Given the description of an element on the screen output the (x, y) to click on. 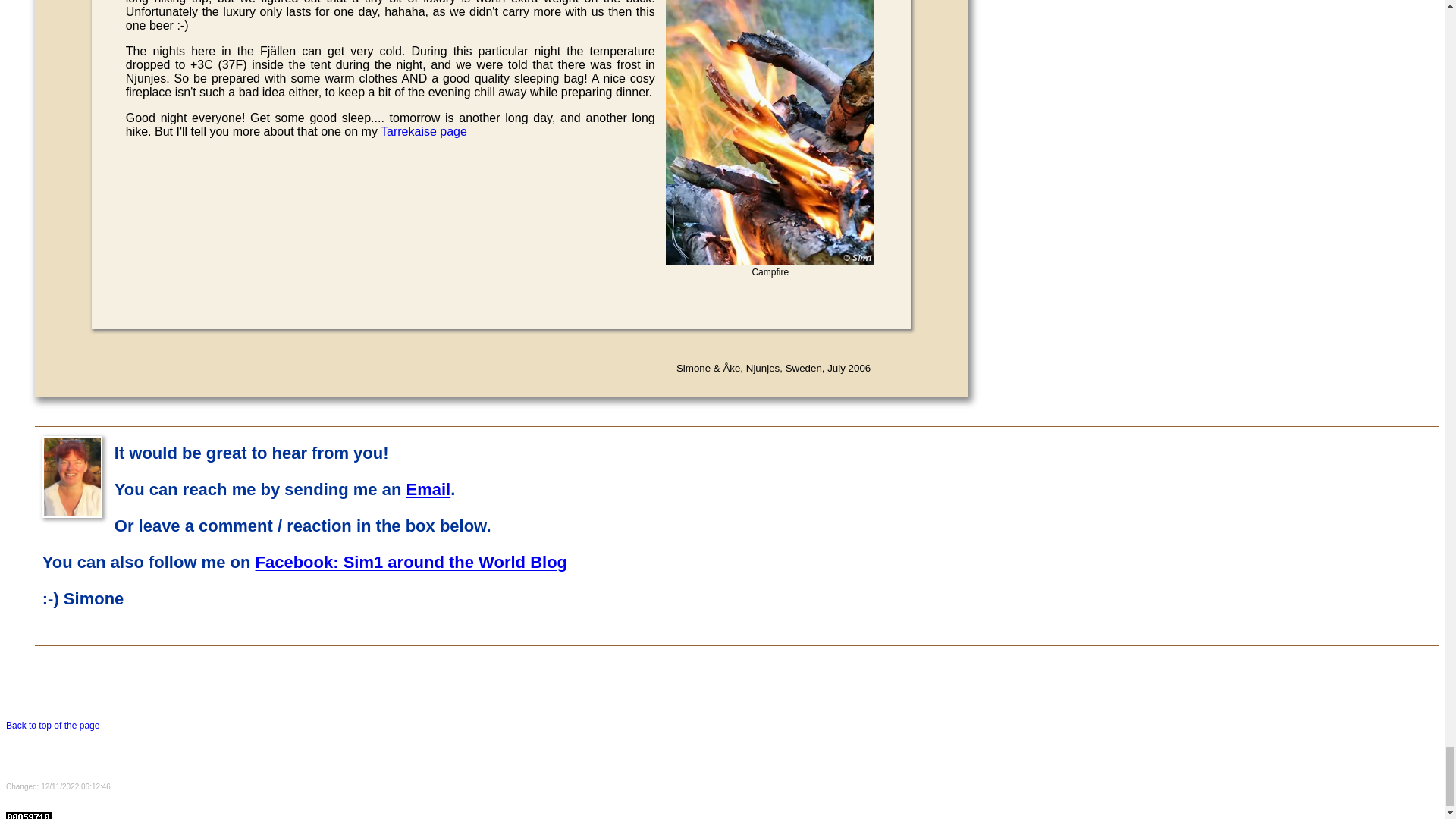
Facebook: Sim1 around the World Blog (411, 561)
Email (427, 488)
Tarrekaise page (423, 131)
Back to top of the page (52, 725)
